Given the description of an element on the screen output the (x, y) to click on. 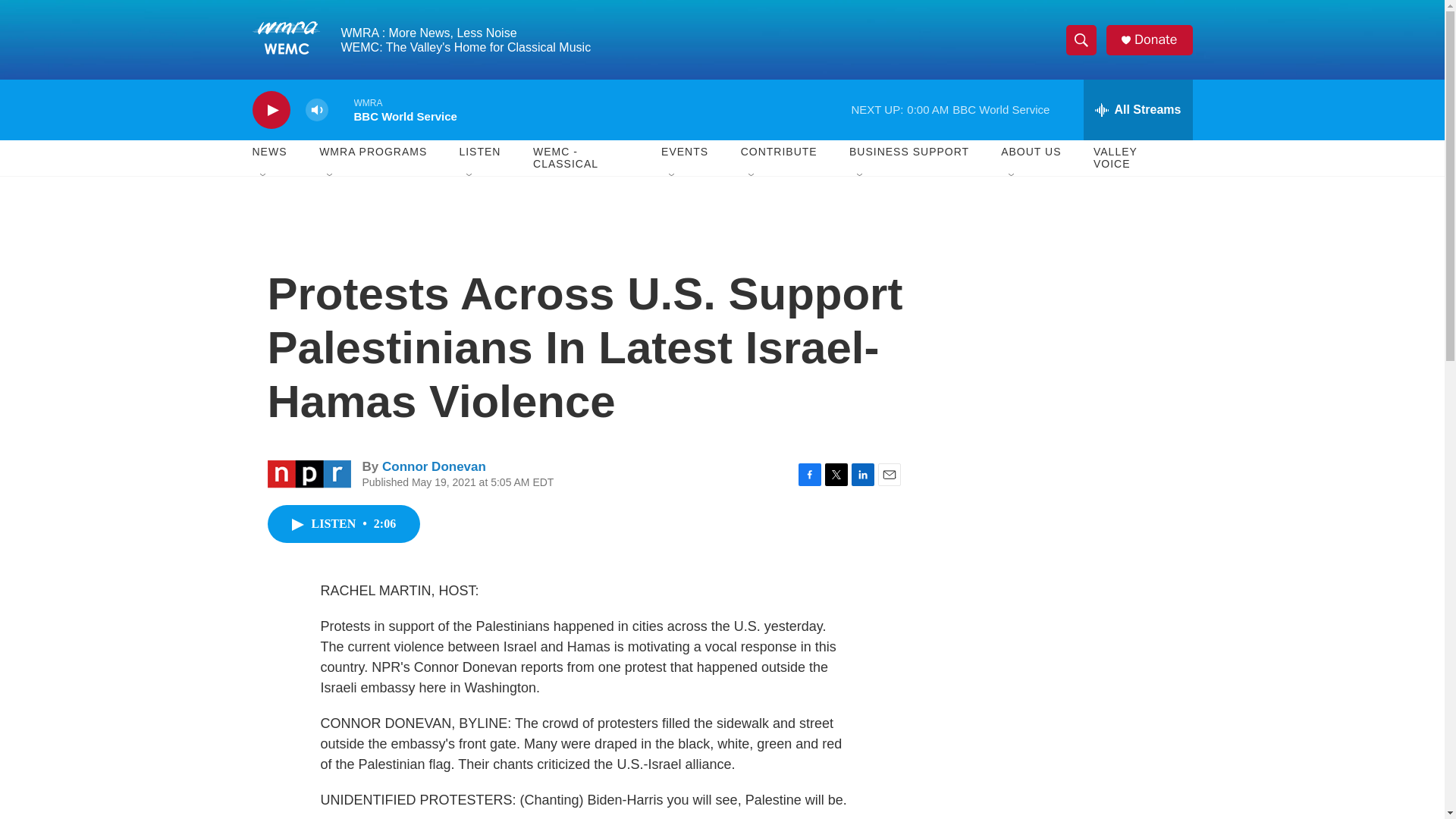
3rd party ad content (1062, 316)
